Given the description of an element on the screen output the (x, y) to click on. 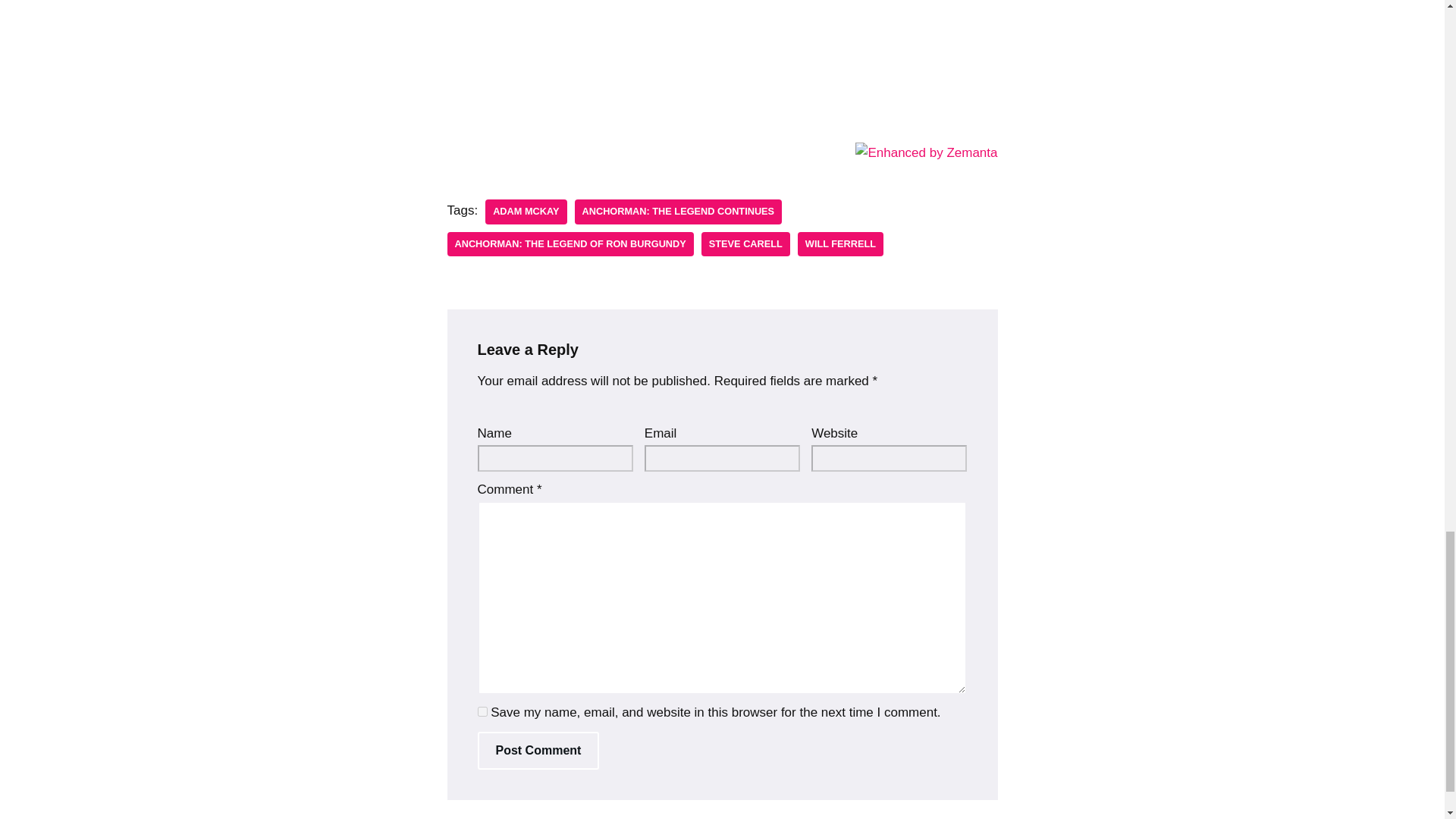
STEVE CARELL (745, 244)
ANCHORMAN: THE LEGEND CONTINUES (679, 211)
yes (482, 711)
Adam McKay (525, 211)
ANCHORMAN: THE LEGEND OF RON BURGUNDY (570, 244)
Anchorman: The Legend Continues (679, 211)
ADAM MCKAY (525, 211)
Post Comment (538, 750)
